Given the description of an element on the screen output the (x, y) to click on. 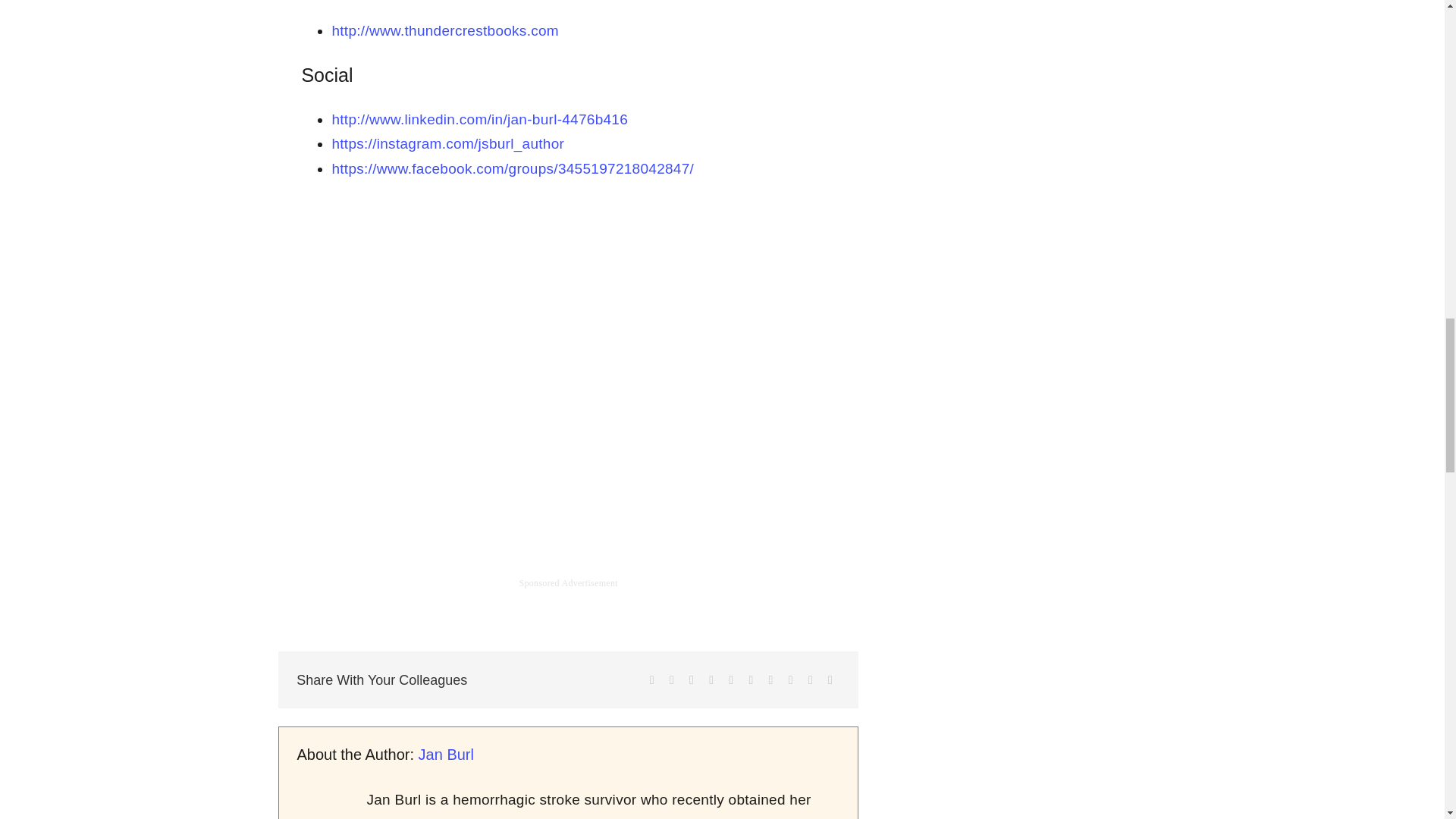
Email (830, 680)
Reddit (691, 680)
LinkedIn (710, 680)
Facebook (652, 680)
Xing (810, 680)
Vk (790, 680)
WhatsApp (730, 680)
Jan Burl (446, 754)
X (671, 680)
Tumblr (750, 680)
Pinterest (770, 680)
